Given the description of an element on the screen output the (x, y) to click on. 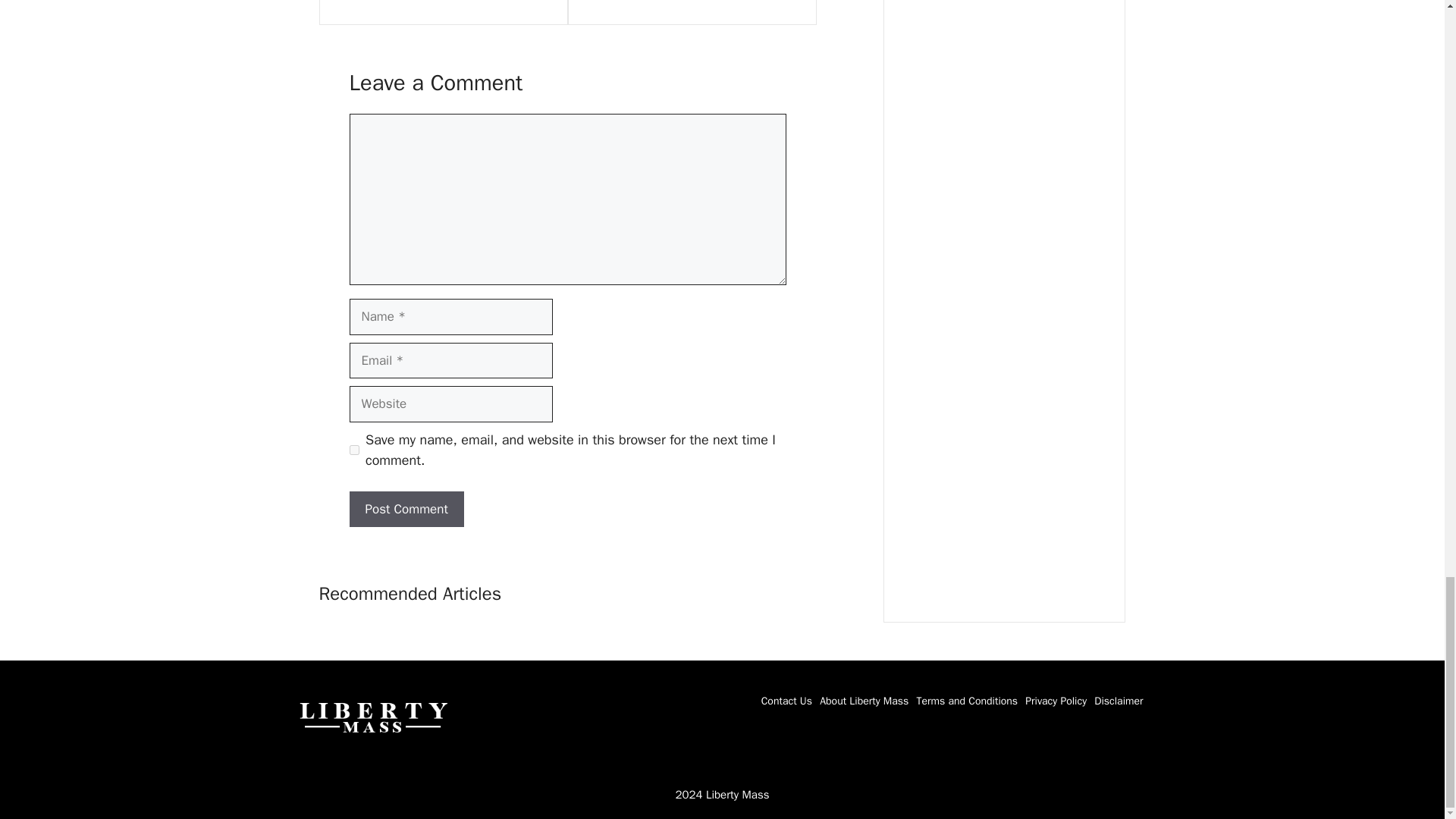
logowhite-min (372, 716)
Post Comment (406, 509)
About Liberty Mass (863, 700)
Terms and Conditions (966, 700)
Disclaimer (1118, 700)
Contact Us (786, 700)
yes (353, 450)
Post Comment (406, 509)
Privacy Policy (1055, 700)
